Given the description of an element on the screen output the (x, y) to click on. 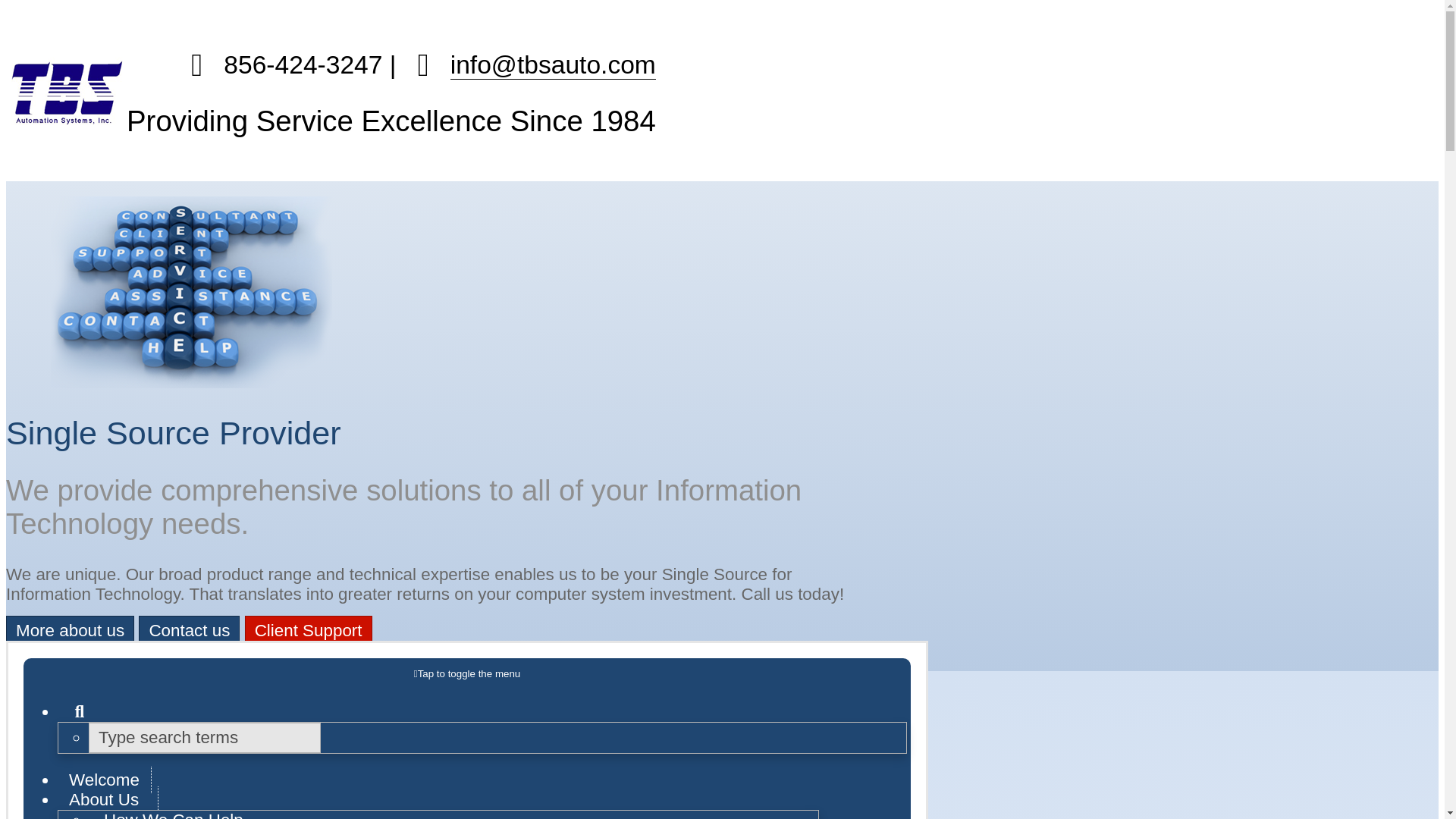
More about us (69, 630)
Contact us (189, 630)
How We Can Help (173, 813)
Welcome (104, 779)
Client Support (308, 630)
About Us (108, 799)
856-424-3247 (279, 64)
Skip to content (467, 673)
